Given the description of an element on the screen output the (x, y) to click on. 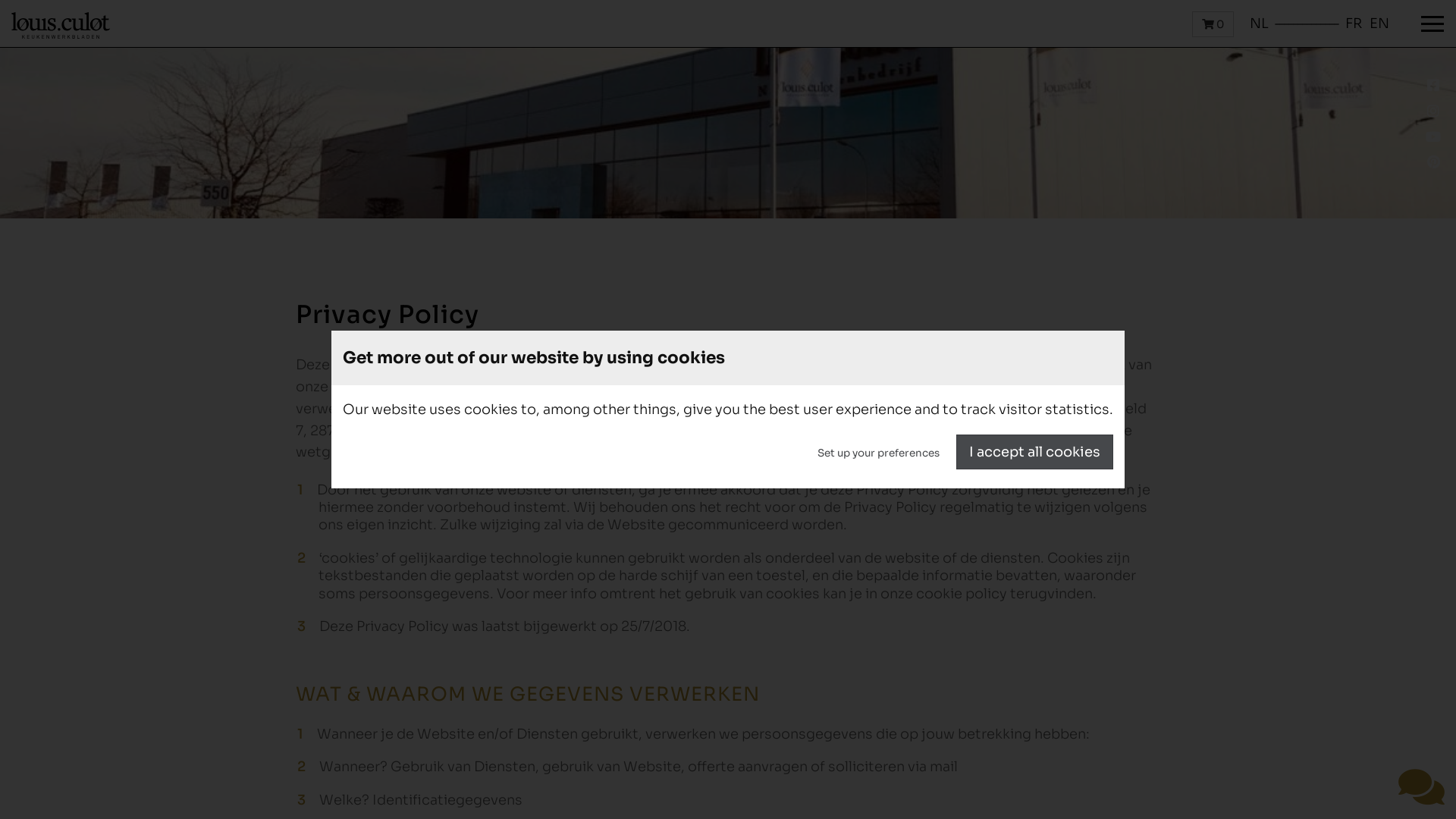
0 Element type: text (1212, 24)
FR Element type: text (1353, 23)
NL Element type: text (1258, 23)
I accept all cookies Element type: text (1034, 451)
Set up your preferences Element type: text (878, 451)
EN Element type: text (1379, 23)
